Given the description of an element on the screen output the (x, y) to click on. 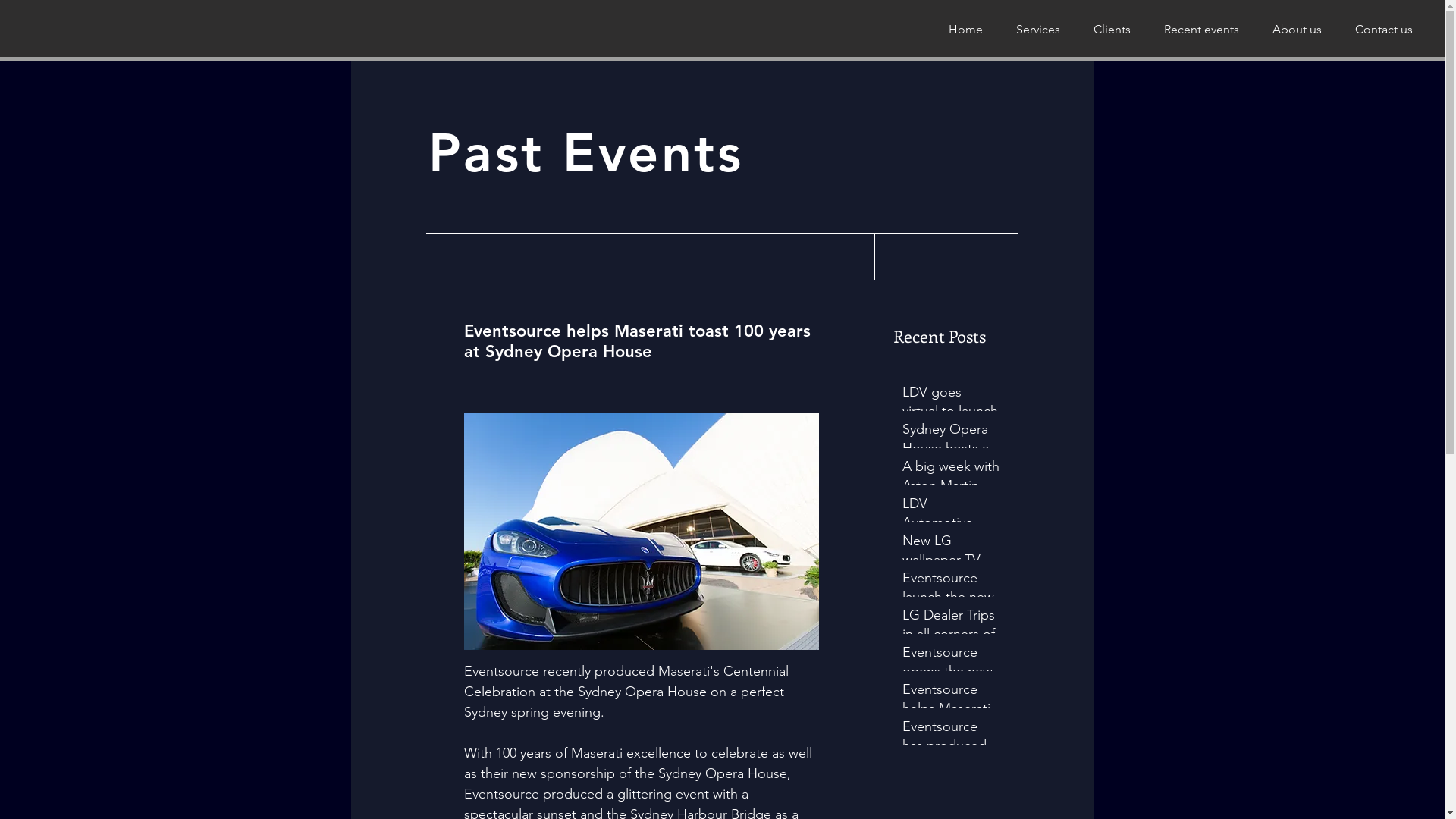
Contact us Element type: text (1383, 29)
Services Element type: text (1037, 29)
Recent events Element type: text (1201, 29)
About us Element type: text (1296, 29)
Eventsource launch the new Maserati Levante SUV in Australia Element type: text (950, 600)
LG Dealer Trips in all corners of the globe by Eventsource Element type: text (950, 637)
Clients Element type: text (1111, 29)
New LG wallpaper TV launched at luxury Sydney residence Element type: text (950, 563)
Home Element type: text (965, 29)
Eventsource has produced an array of Ferrari events Element type: text (950, 749)
LDV goes virtual to launch the all-new Deliver 9 Element type: text (950, 414)
